Given the description of an element on the screen output the (x, y) to click on. 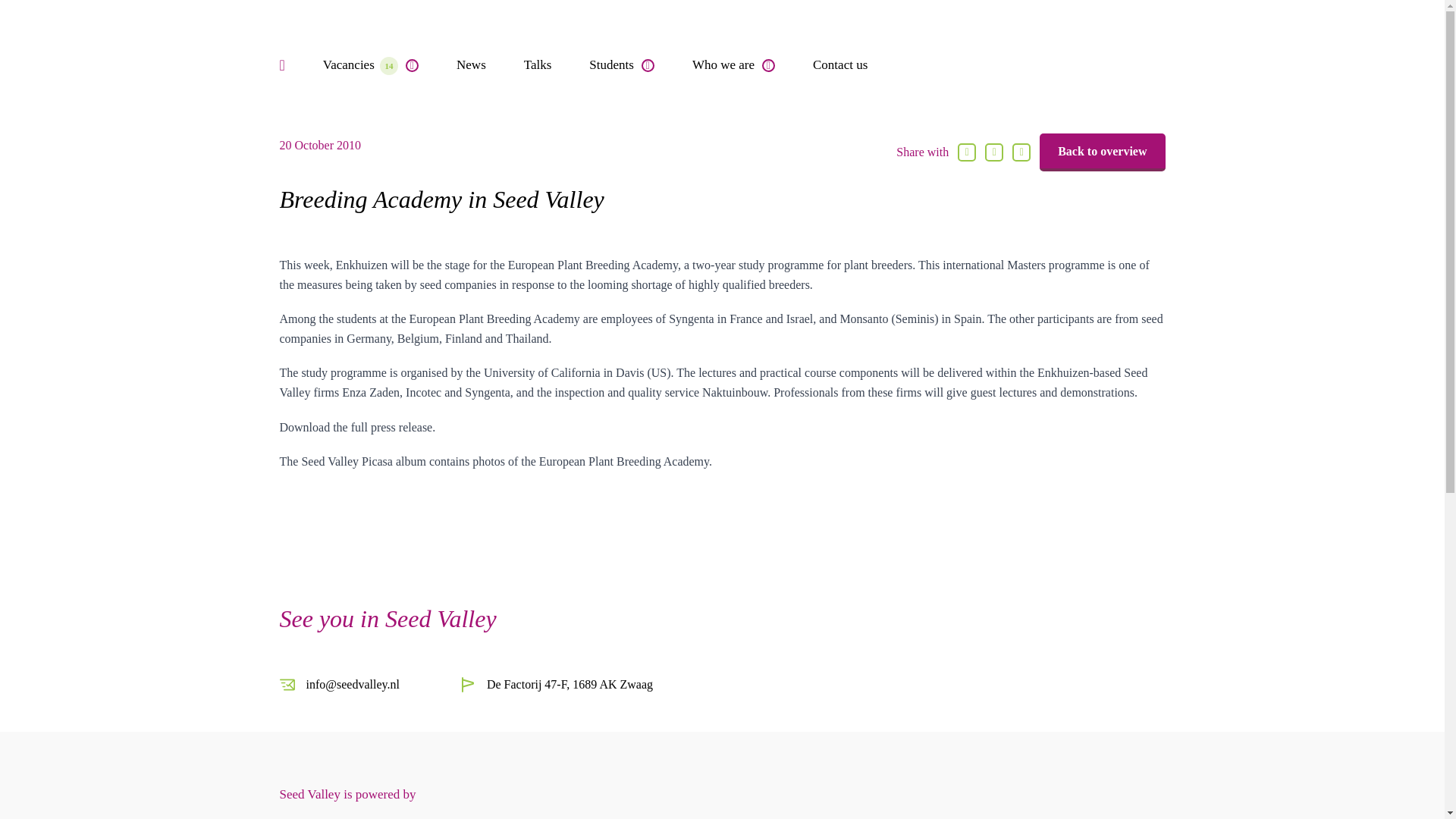
Contact us (839, 65)
News (471, 65)
Vacancies 14 (371, 65)
Back to overview (1101, 152)
De Factorij 47-F, 1689 AK Zwaag (556, 683)
Talks (537, 65)
Ga naar homepage (1141, 63)
Who we are (733, 65)
Students (621, 65)
